Given the description of an element on the screen output the (x, y) to click on. 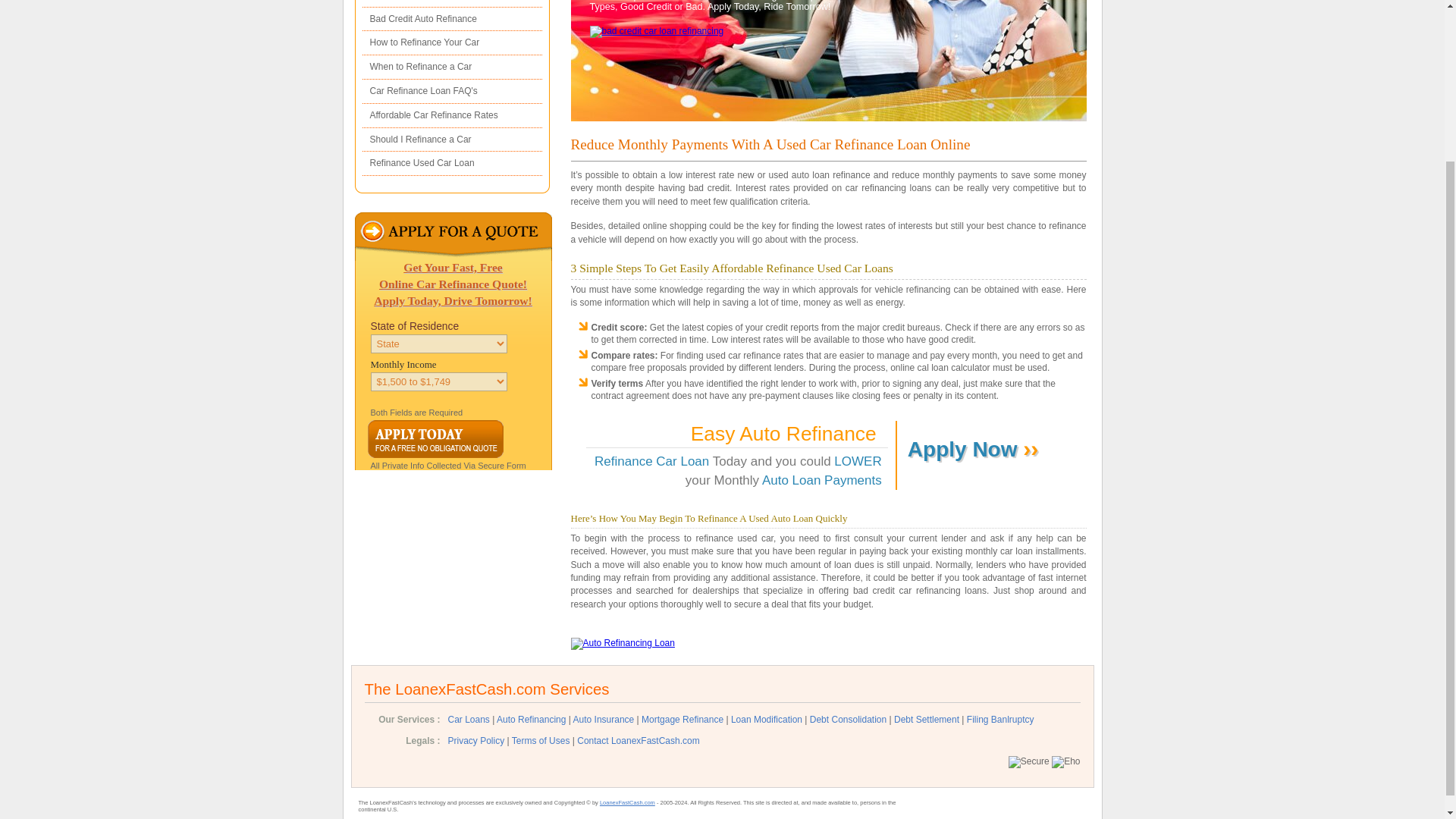
Refinance Used Car Loan (451, 163)
Bad Credit Auto Refinance (451, 19)
Privacy Policy (474, 748)
Auto Refinancing (531, 727)
Affordable Car Refinance Rates (451, 115)
Filing Banlruptcy (999, 727)
Contact LoanexFastCash.com (637, 748)
Car Refinance Loan FAQ's (451, 91)
Terms of Uses (541, 748)
Debt Settlement (926, 727)
